Given the description of an element on the screen output the (x, y) to click on. 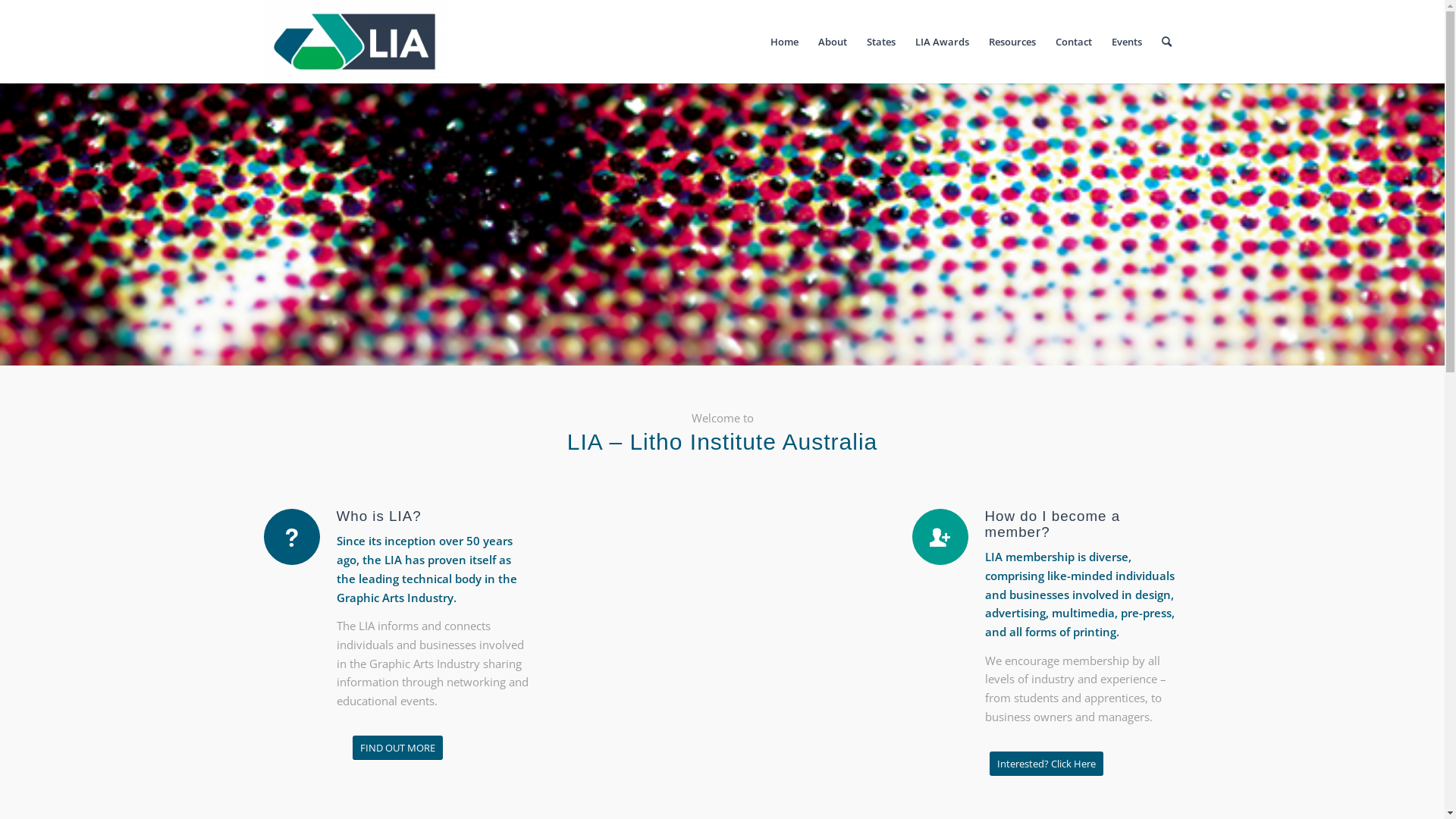
Events Element type: text (1126, 41)
LIA Awards Element type: text (942, 41)
Who is LIA? Element type: hover (291, 536)
Resources Element type: text (1011, 41)
How do I become a member? Element type: hover (940, 536)
FIND OUT MORE Element type: text (397, 747)
Contact Element type: text (1072, 41)
Interested? Click Here Element type: text (1046, 762)
Who is LIA? Element type: text (378, 516)
Home Element type: text (783, 41)
States Element type: text (880, 41)
About Element type: text (832, 41)
How do I become a member? Element type: text (1052, 523)
